Given the description of an element on the screen output the (x, y) to click on. 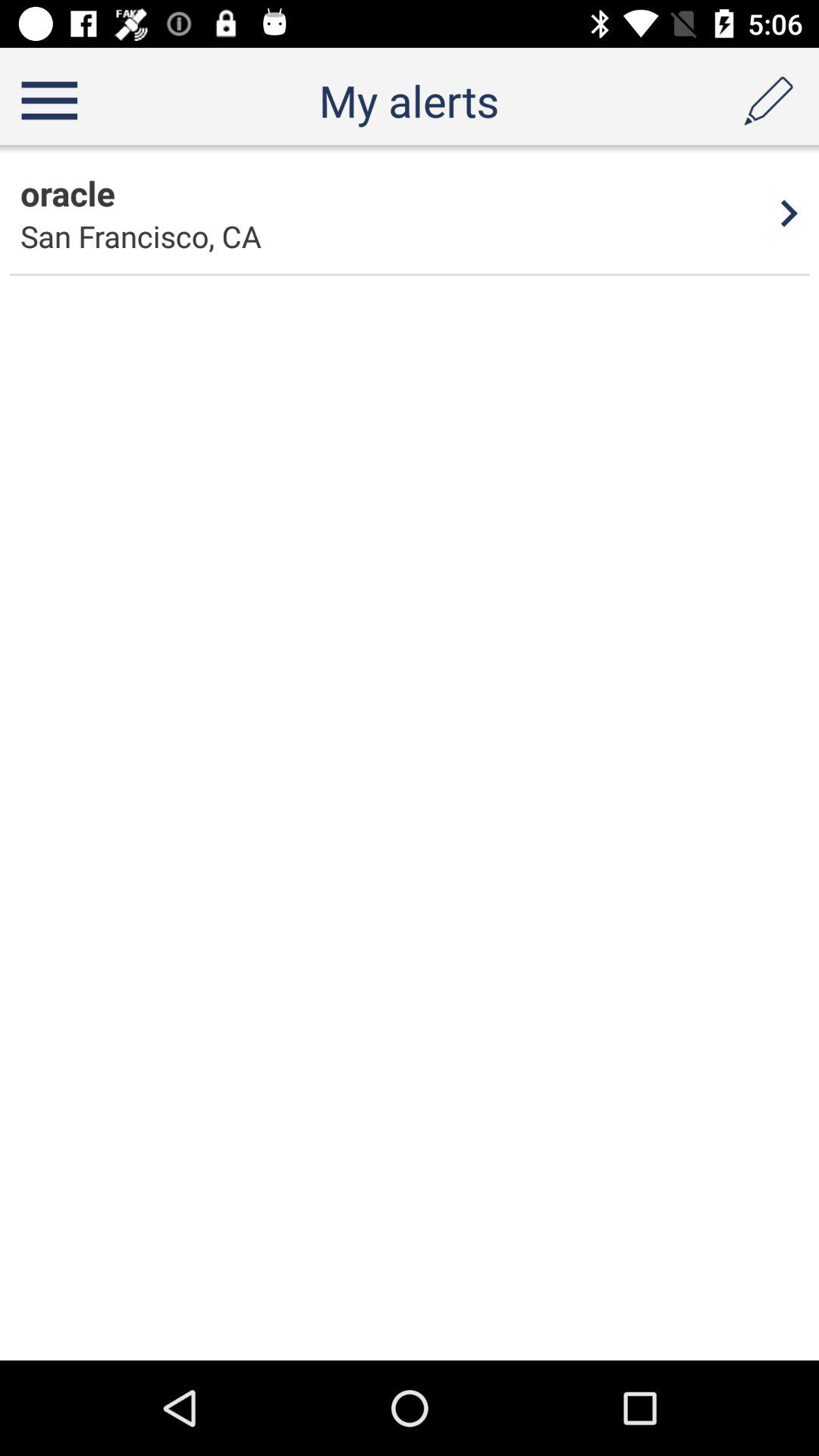
open item to the left of the 4 icon (67, 193)
